Given the description of an element on the screen output the (x, y) to click on. 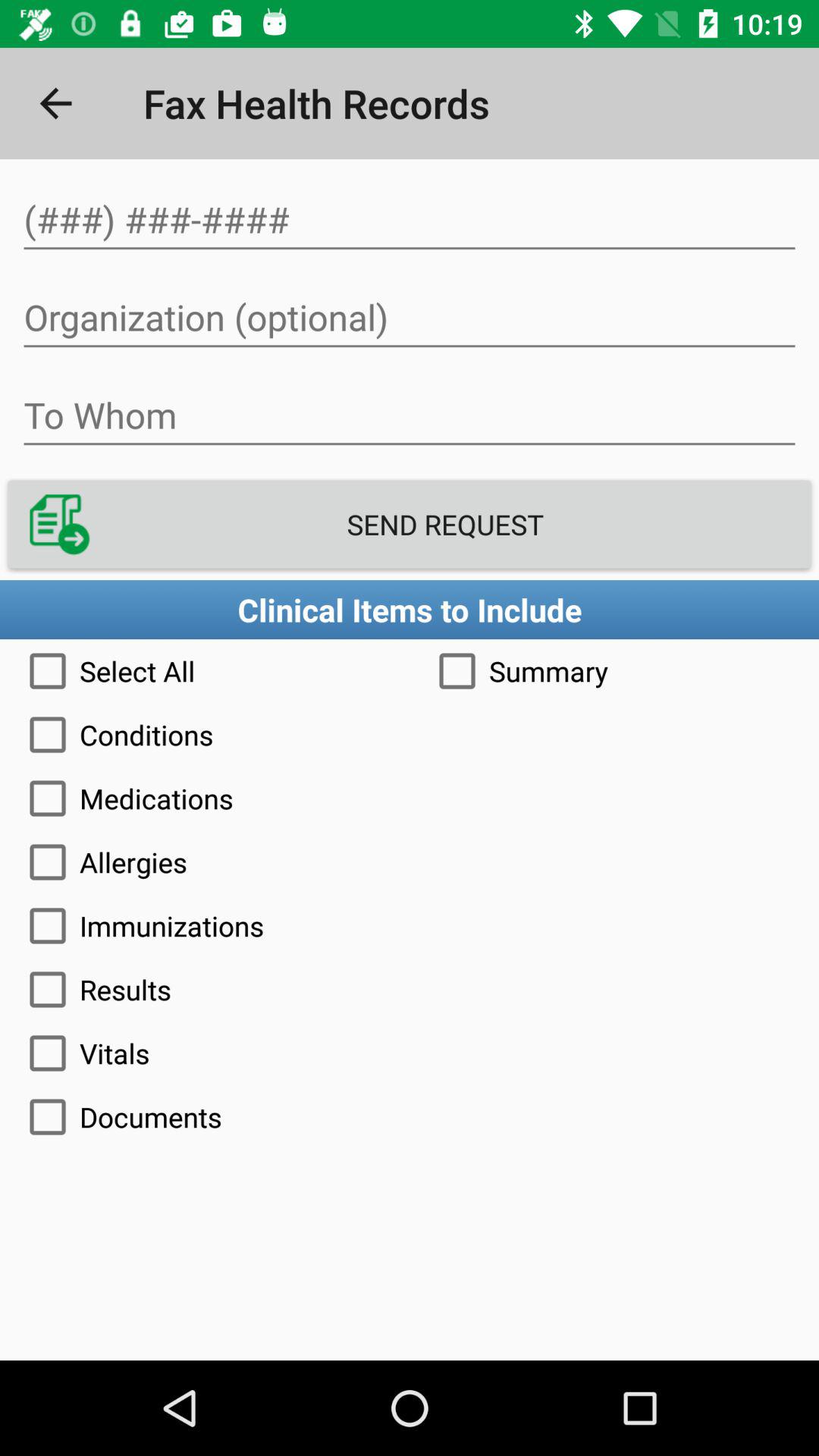
tap the icon above the clinical items to icon (409, 524)
